Given the description of an element on the screen output the (x, y) to click on. 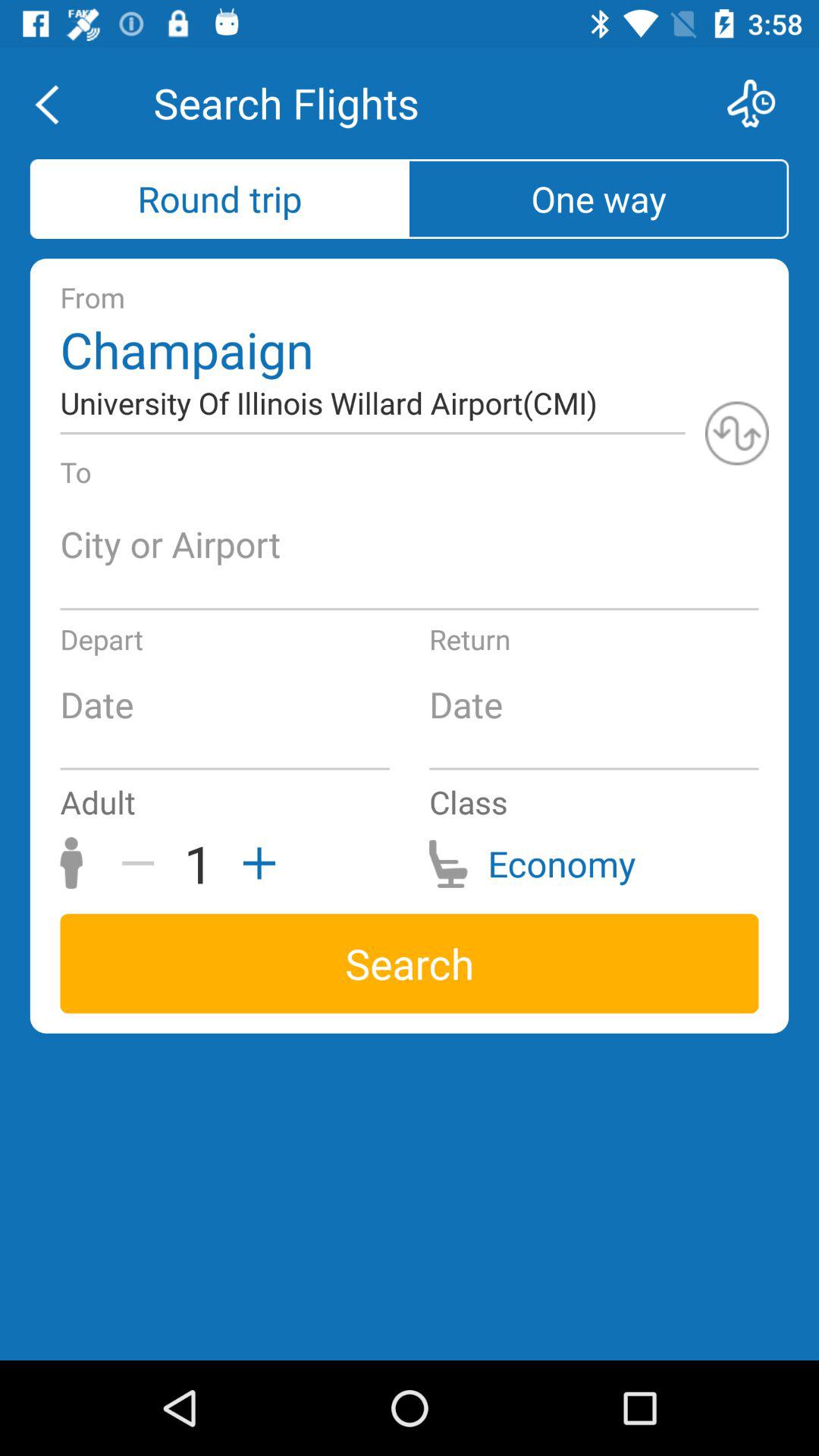
decrease number of people (143, 863)
